Given the description of an element on the screen output the (x, y) to click on. 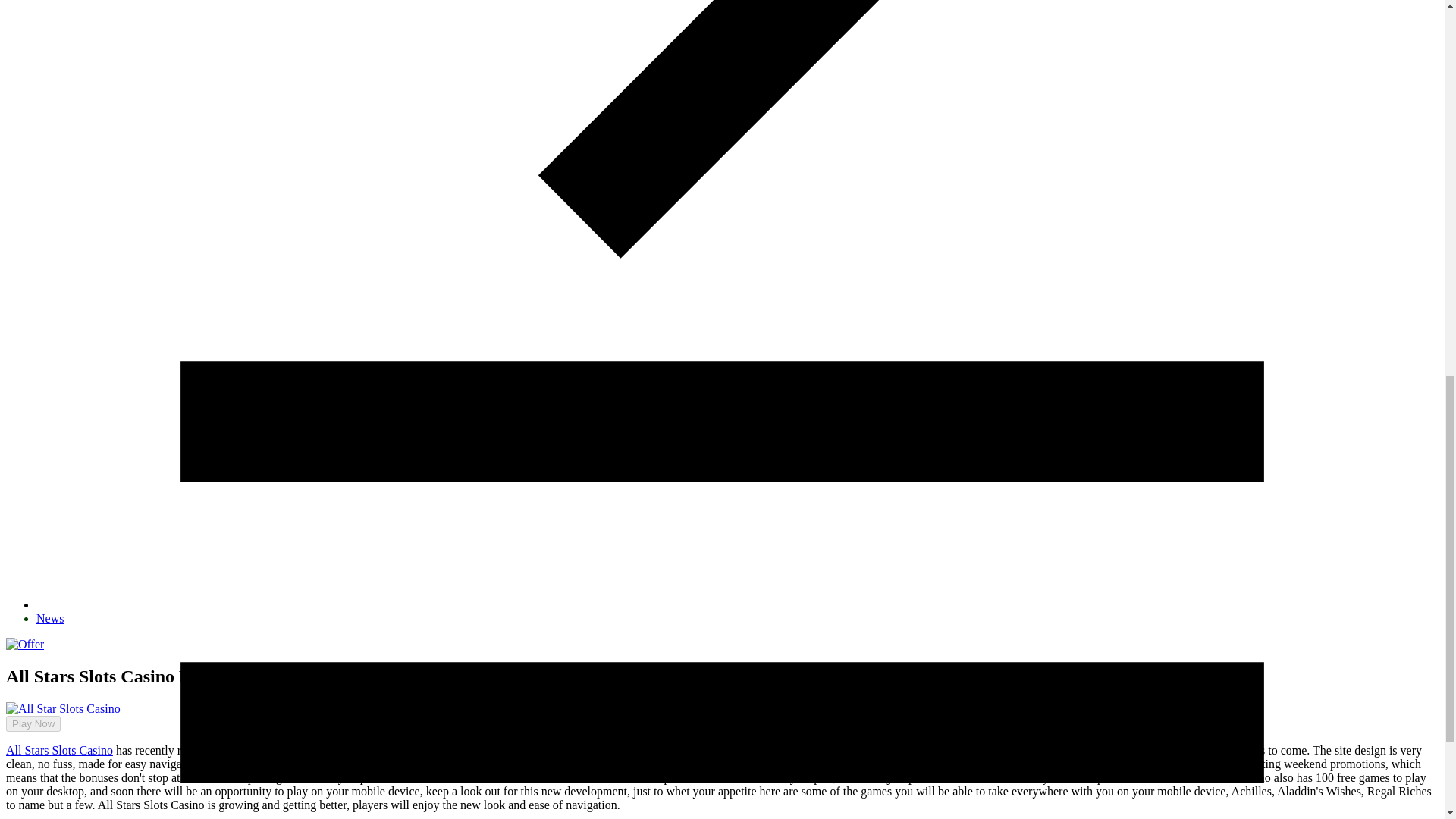
News (50, 617)
All Stars Slots Casino (59, 749)
Play Now (27, 718)
Play Now (33, 723)
